Given the description of an element on the screen output the (x, y) to click on. 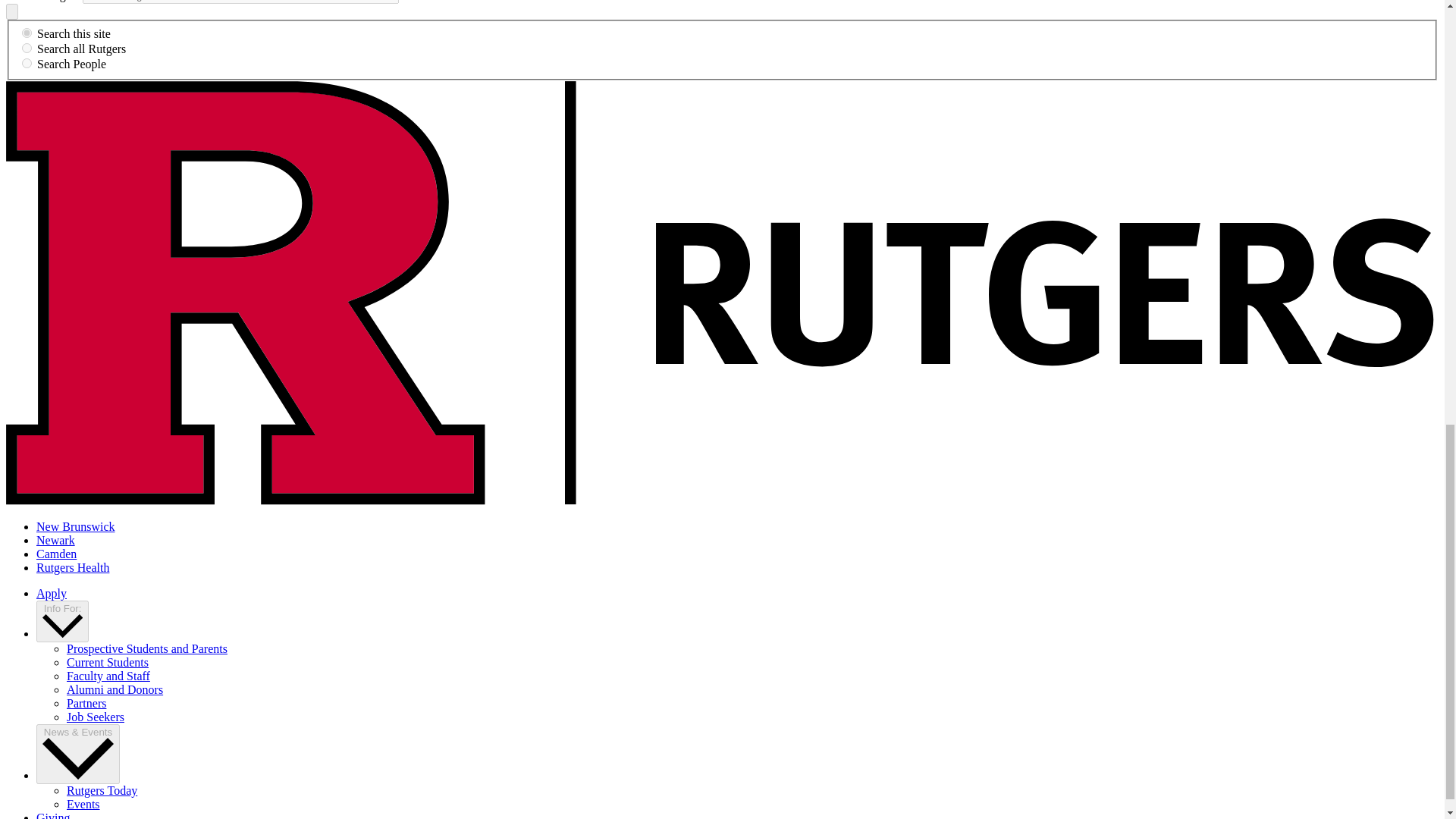
search-all-rutgers (26, 48)
Apply (51, 593)
Rutgers Health (72, 567)
search-people (26, 62)
New Brunswick (75, 526)
search-this-site (26, 32)
Camden (56, 553)
Info For: (62, 621)
Newark (55, 540)
Prospective Students and Parents (146, 648)
Job Seekers (94, 716)
Faculty and Staff (107, 675)
Alumni and Donors (114, 689)
Partners (86, 703)
Rutgers Today (101, 789)
